Given the description of an element on the screen output the (x, y) to click on. 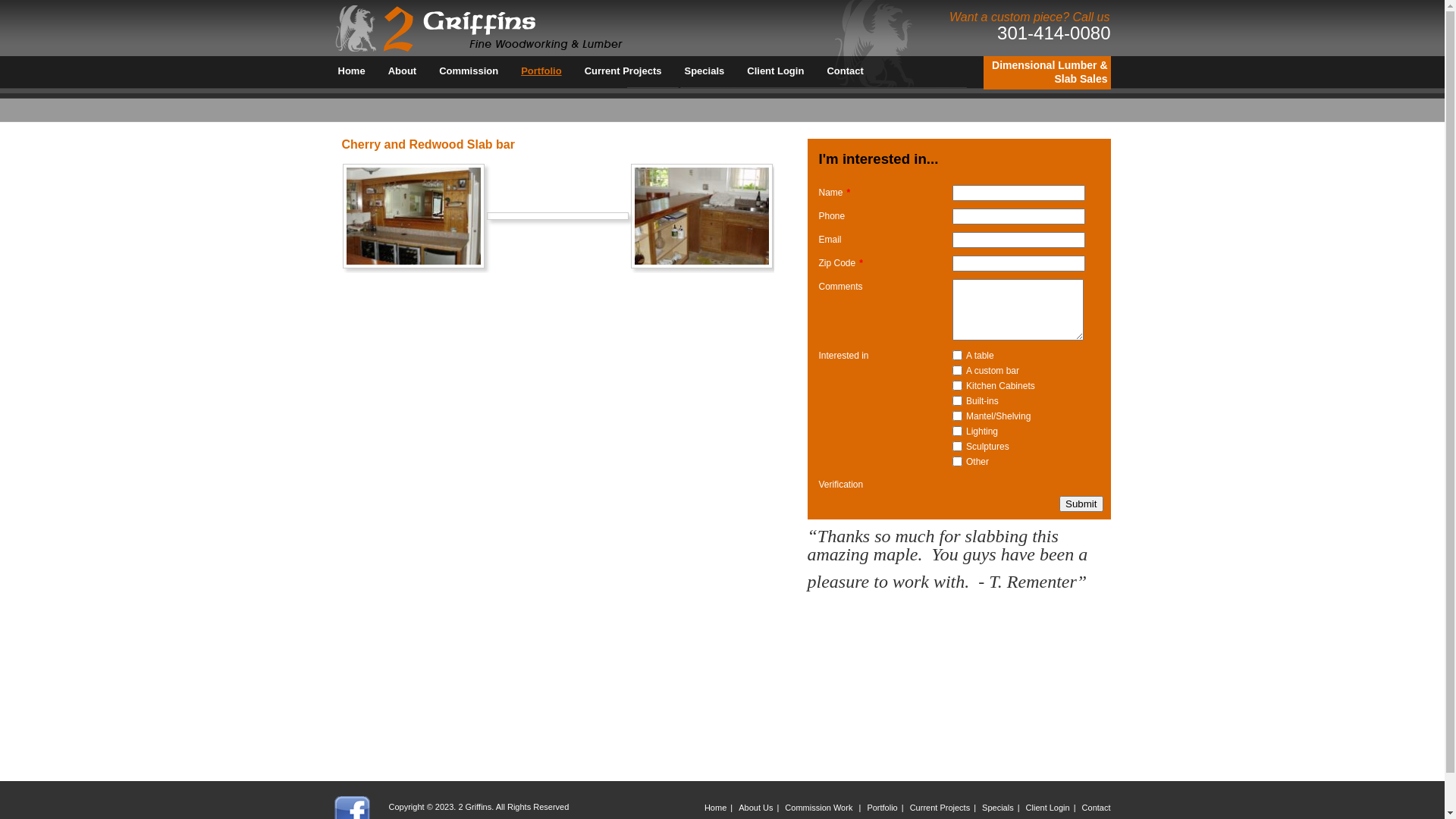
About Element type: text (402, 70)
Submit Element type: text (1080, 503)
Current Projects Element type: text (622, 70)
Current Projects Element type: text (939, 807)
Specials Element type: text (704, 70)
Commission Element type: text (468, 70)
Portfolio Element type: text (881, 807)
Portfolio Element type: text (540, 70)
Contact Element type: text (844, 70)
Specials Element type: text (997, 807)
About Us Element type: text (755, 807)
Home Element type: text (350, 70)
Commission Work Element type: text (819, 807)
Dimensional Lumber & Slab Sales Element type: text (1049, 71)
Home Element type: text (715, 807)
Client Login Element type: text (775, 70)
Client Login Element type: text (1047, 807)
